Given the description of an element on the screen output the (x, y) to click on. 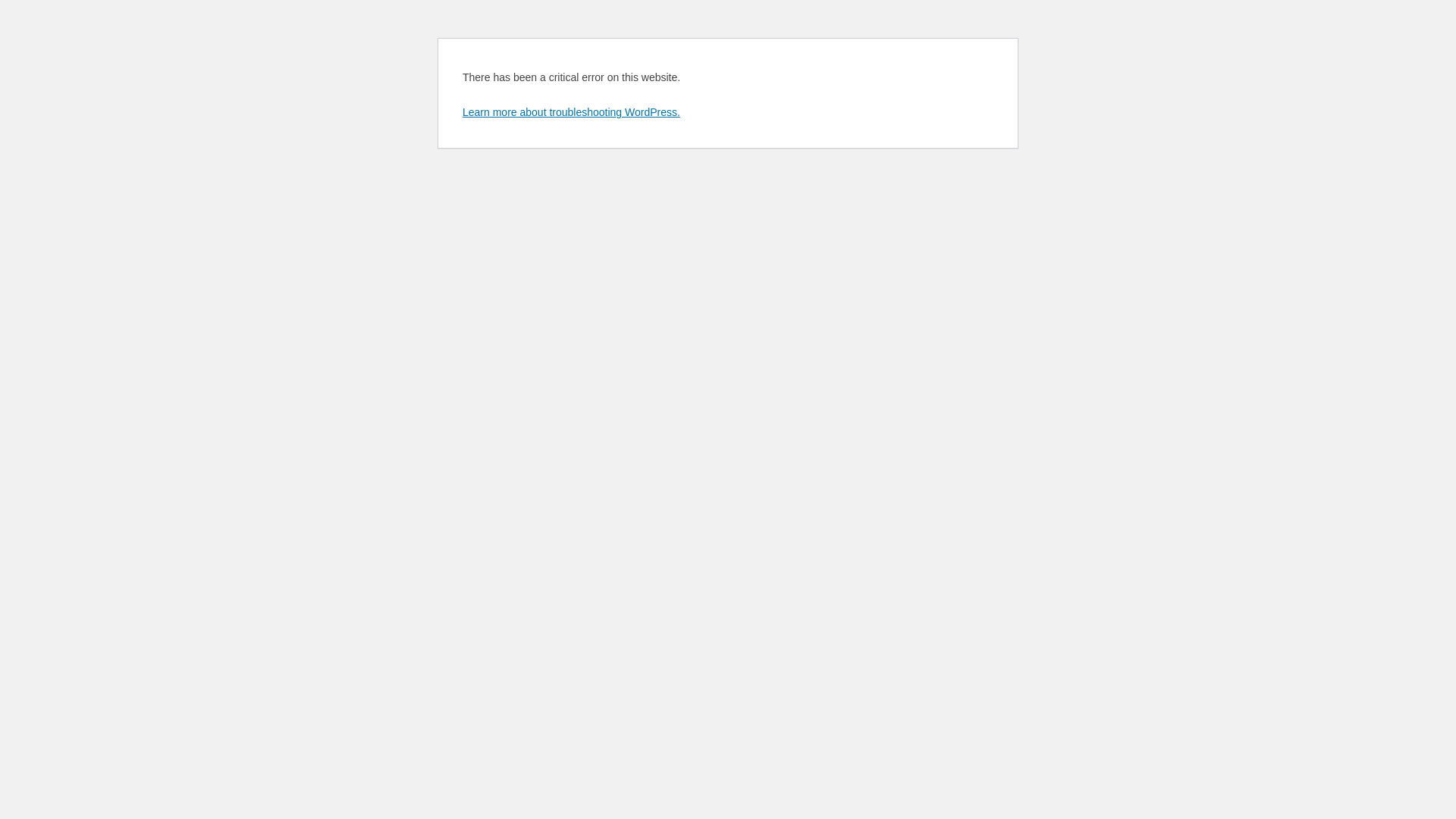
Learn more about troubleshooting WordPress. Element type: text (571, 112)
